Given the description of an element on the screen output the (x, y) to click on. 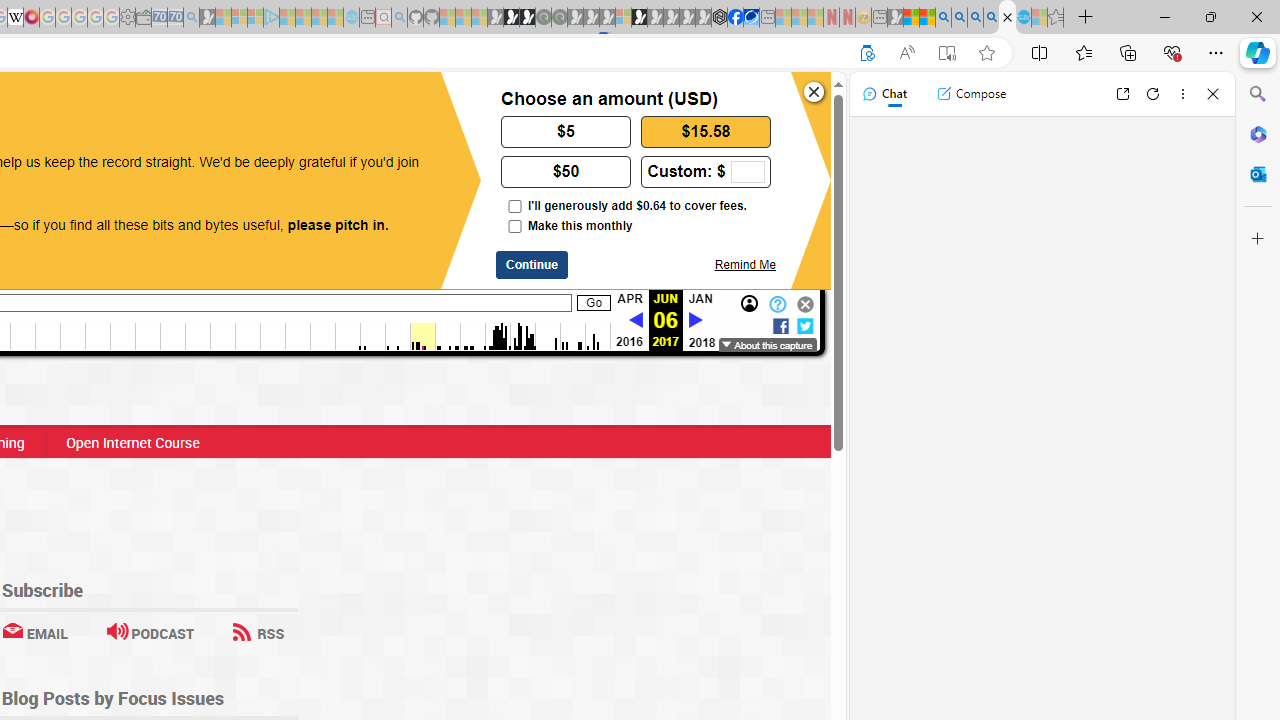
Make this monthly (514, 225)
